Given the description of an element on the screen output the (x, y) to click on. 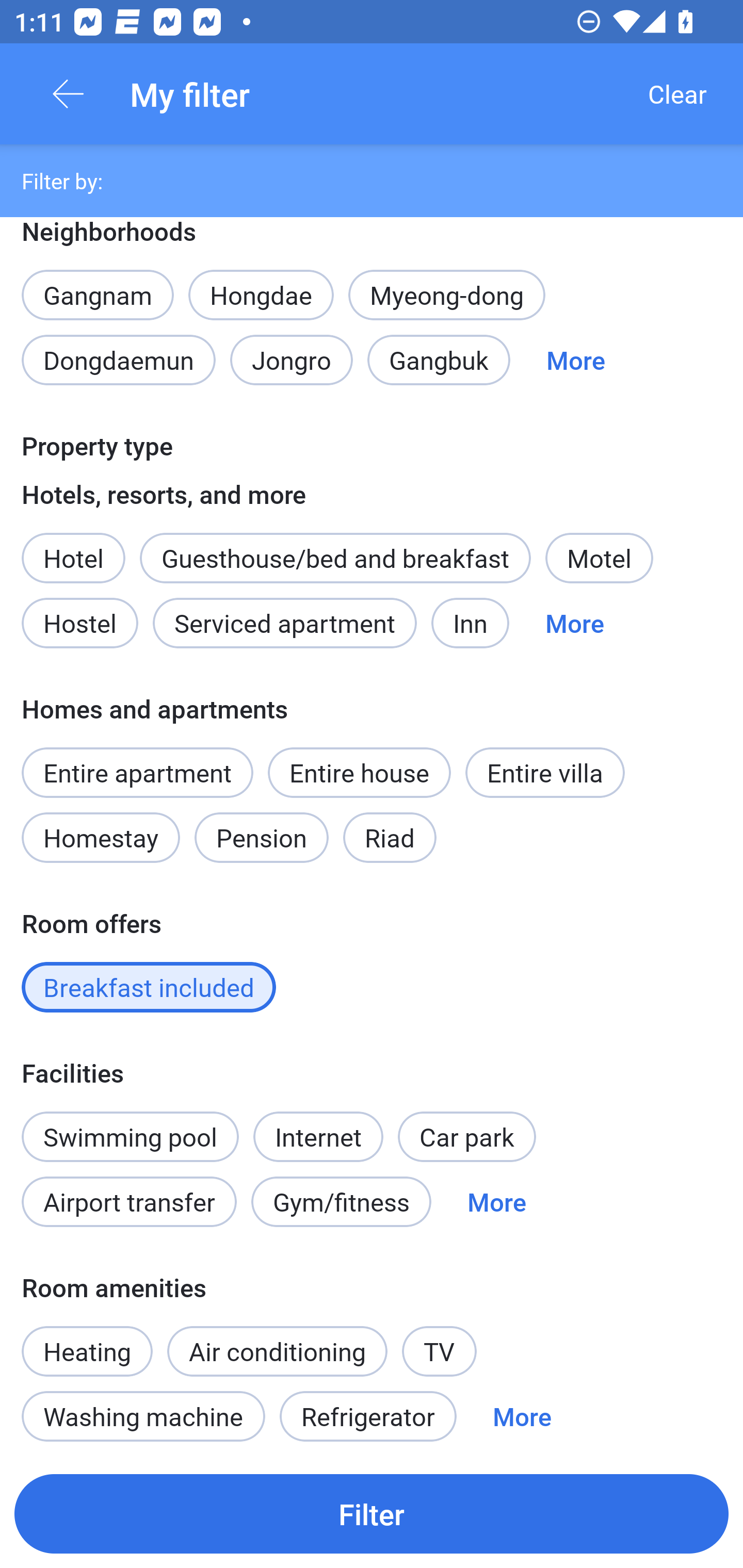
Clear (676, 93)
Gangnam (97, 284)
Hongdae (260, 295)
Myeong-dong (446, 295)
Dongdaemun (118, 359)
Jongro (291, 359)
Gangbuk (438, 359)
More (575, 359)
Hotel (73, 547)
Guesthouse/bed and breakfast (335, 558)
Motel (599, 558)
Hostel (79, 623)
Serviced apartment (284, 623)
Inn (470, 623)
More (574, 623)
Entire apartment (137, 772)
Entire house (359, 772)
Entire villa (544, 772)
Homestay (100, 837)
Pension (261, 837)
Riad (389, 837)
Swimming pool (130, 1136)
Internet (318, 1125)
Car park (466, 1136)
Airport transfer (129, 1201)
Gym/fitness (341, 1201)
More (496, 1201)
Heating (87, 1340)
Air conditioning (277, 1350)
TV (439, 1350)
Washing machine (143, 1416)
Refrigerator (367, 1416)
More (522, 1416)
Filter (371, 1513)
